Given the description of an element on the screen output the (x, y) to click on. 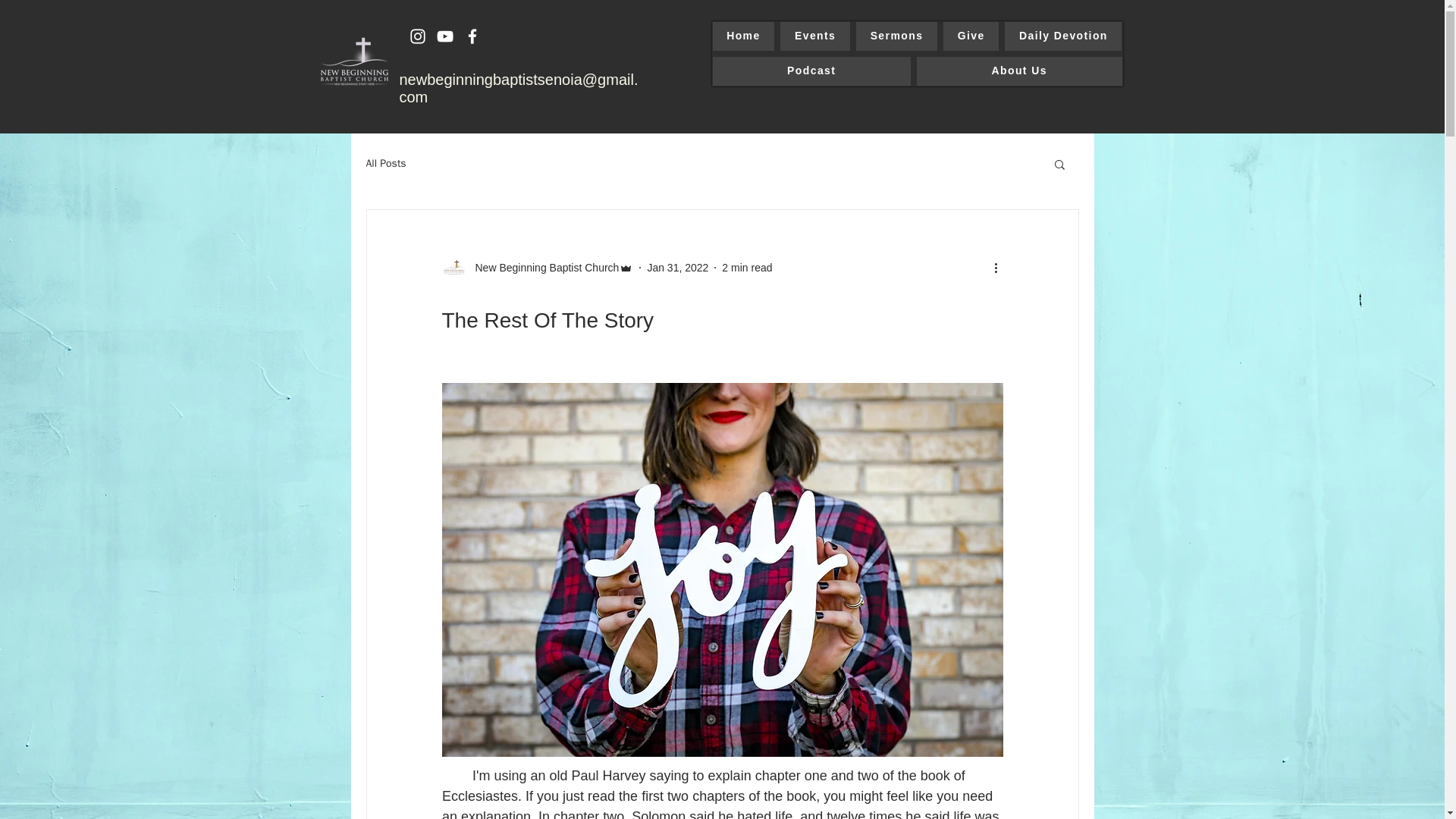
Give (970, 36)
Home (743, 36)
About Us (1019, 70)
New Beginning Baptist Church (541, 267)
Events (815, 36)
Podcast (812, 70)
Jan 31, 2022 (676, 266)
All Posts (385, 163)
New Beginning Baptist Church (537, 267)
2 min read (746, 266)
Daily Devotion (1062, 36)
Sermons (896, 36)
